Given the description of an element on the screen output the (x, y) to click on. 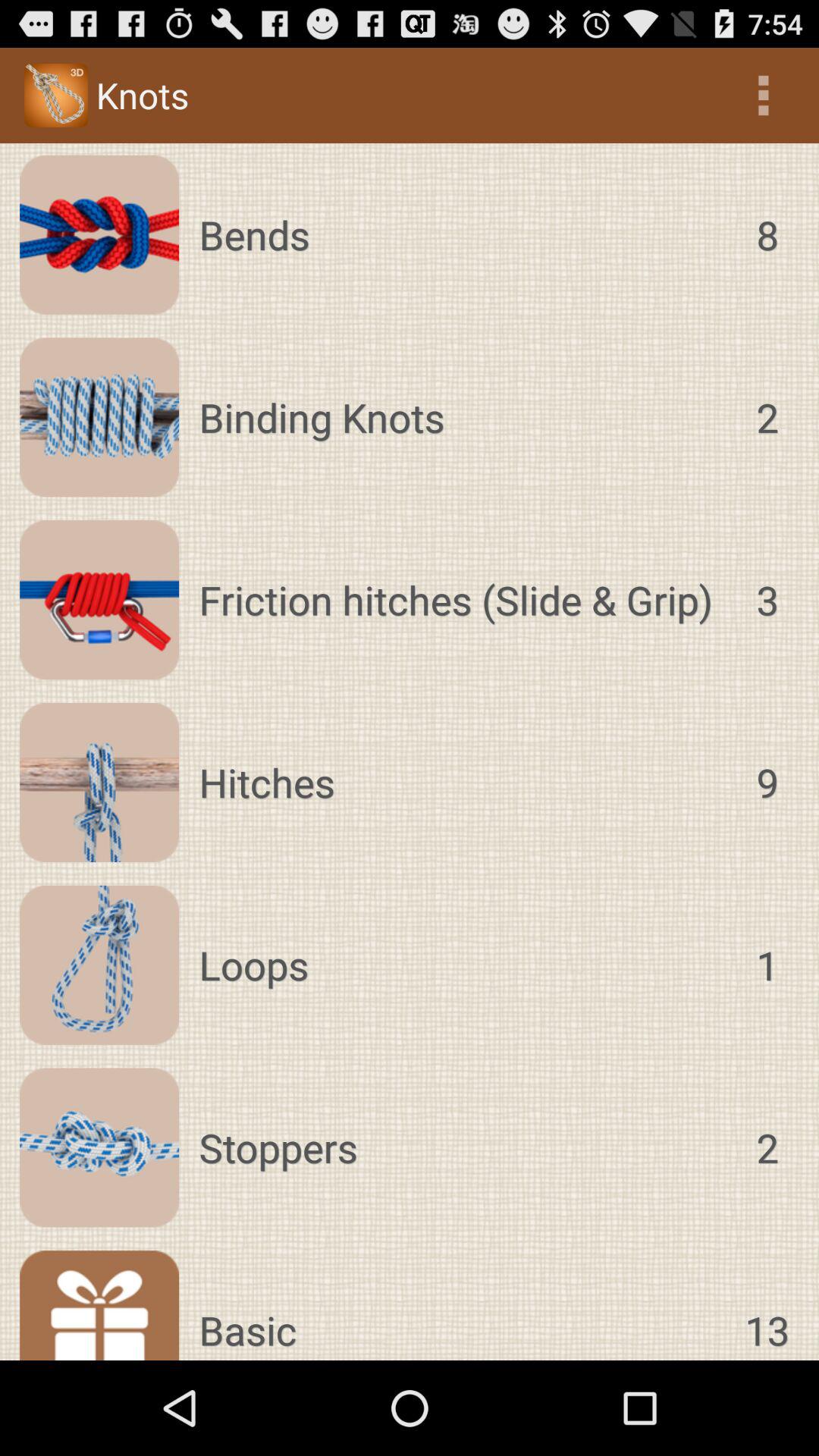
click the icon above basic icon (463, 1147)
